Given the description of an element on the screen output the (x, y) to click on. 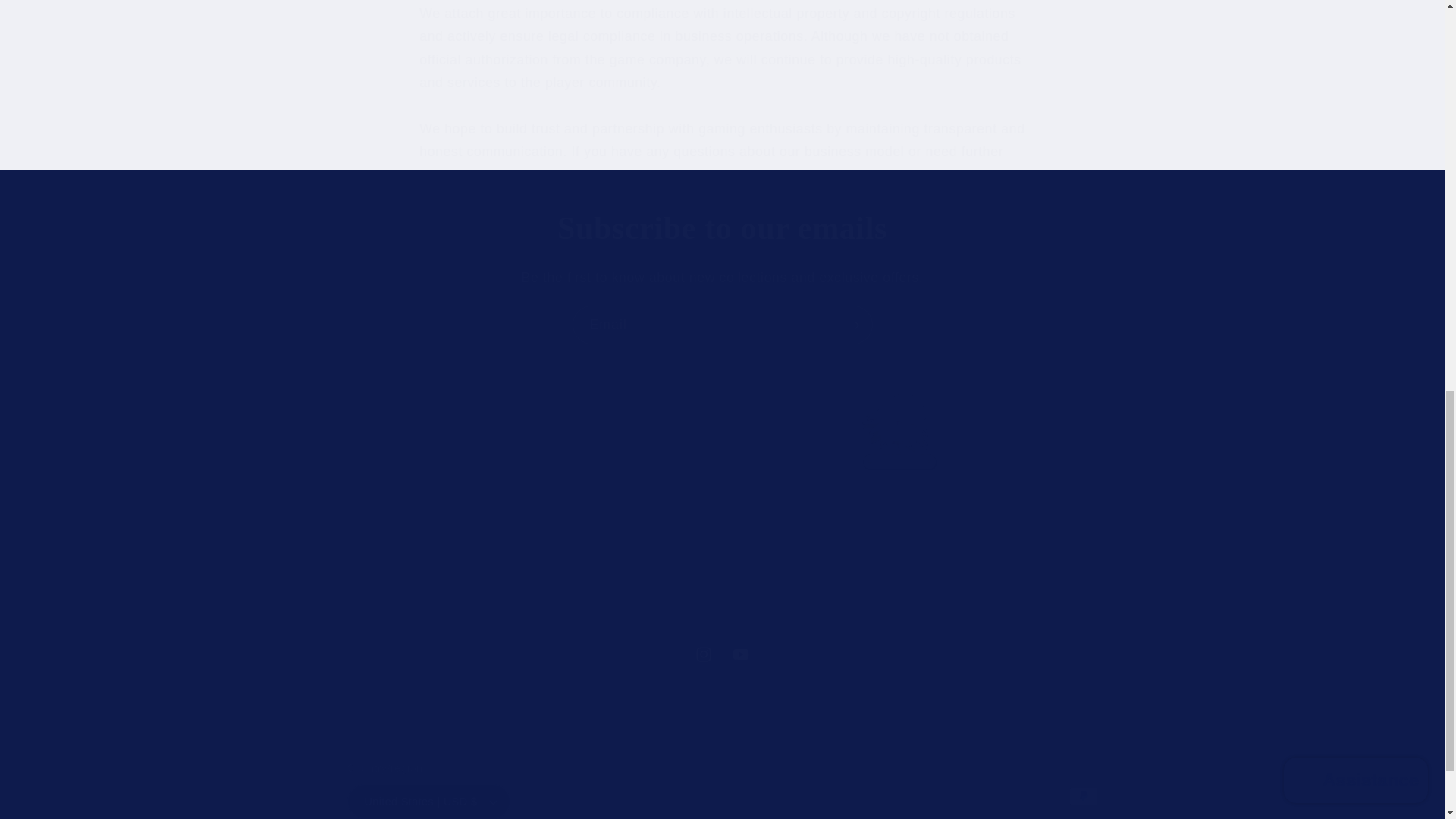
Subscribe to our emails (722, 228)
Email (722, 324)
